Given the description of an element on the screen output the (x, y) to click on. 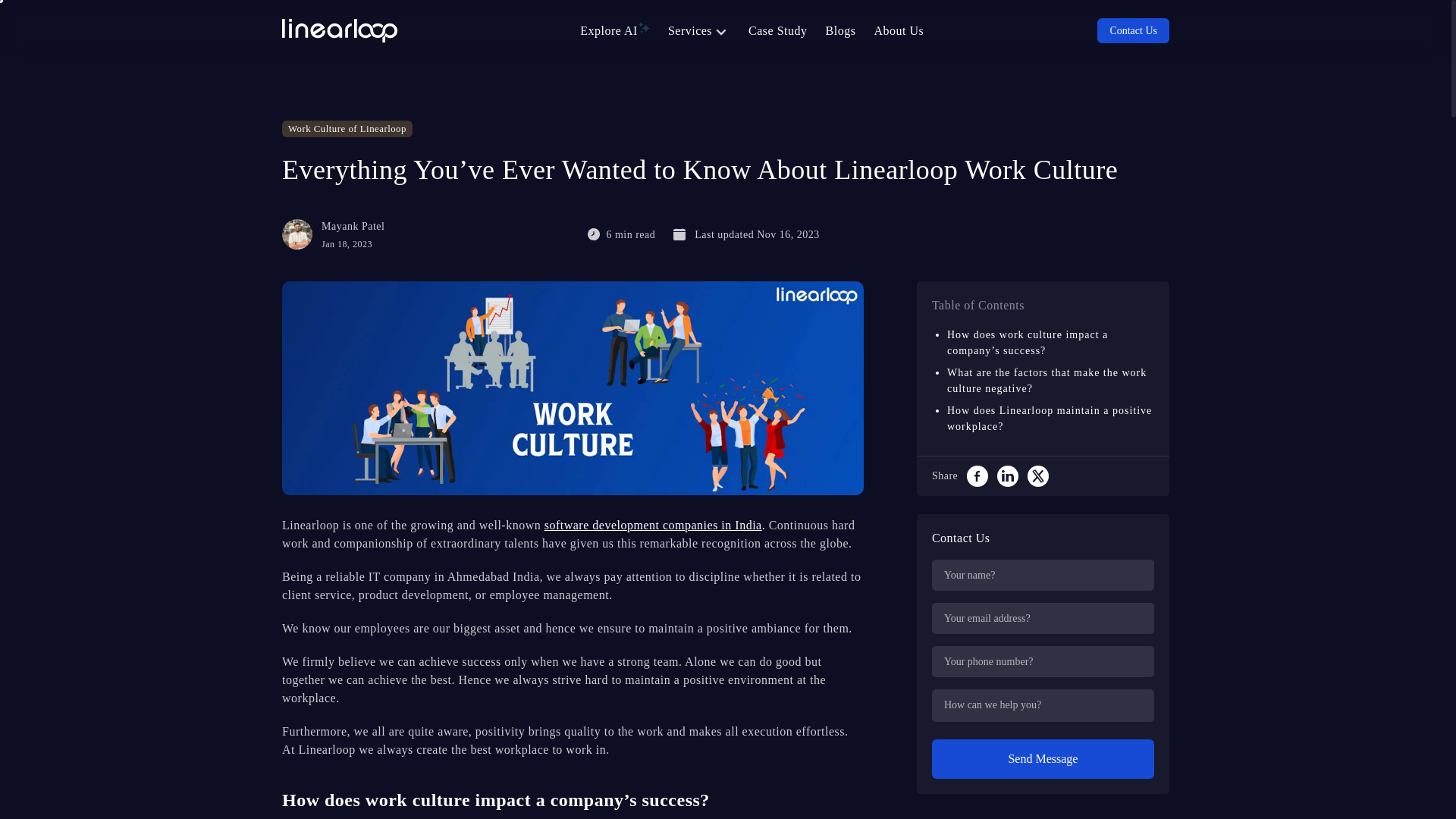
software development companies in India (652, 524)
Explore AI (614, 30)
Blogs (840, 30)
Contact Us (1128, 30)
Contact Us (1133, 30)
Mayank Patel (297, 234)
Case Study (777, 30)
About Us (898, 30)
Services (699, 30)
Send Message (1042, 758)
